Given the description of an element on the screen output the (x, y) to click on. 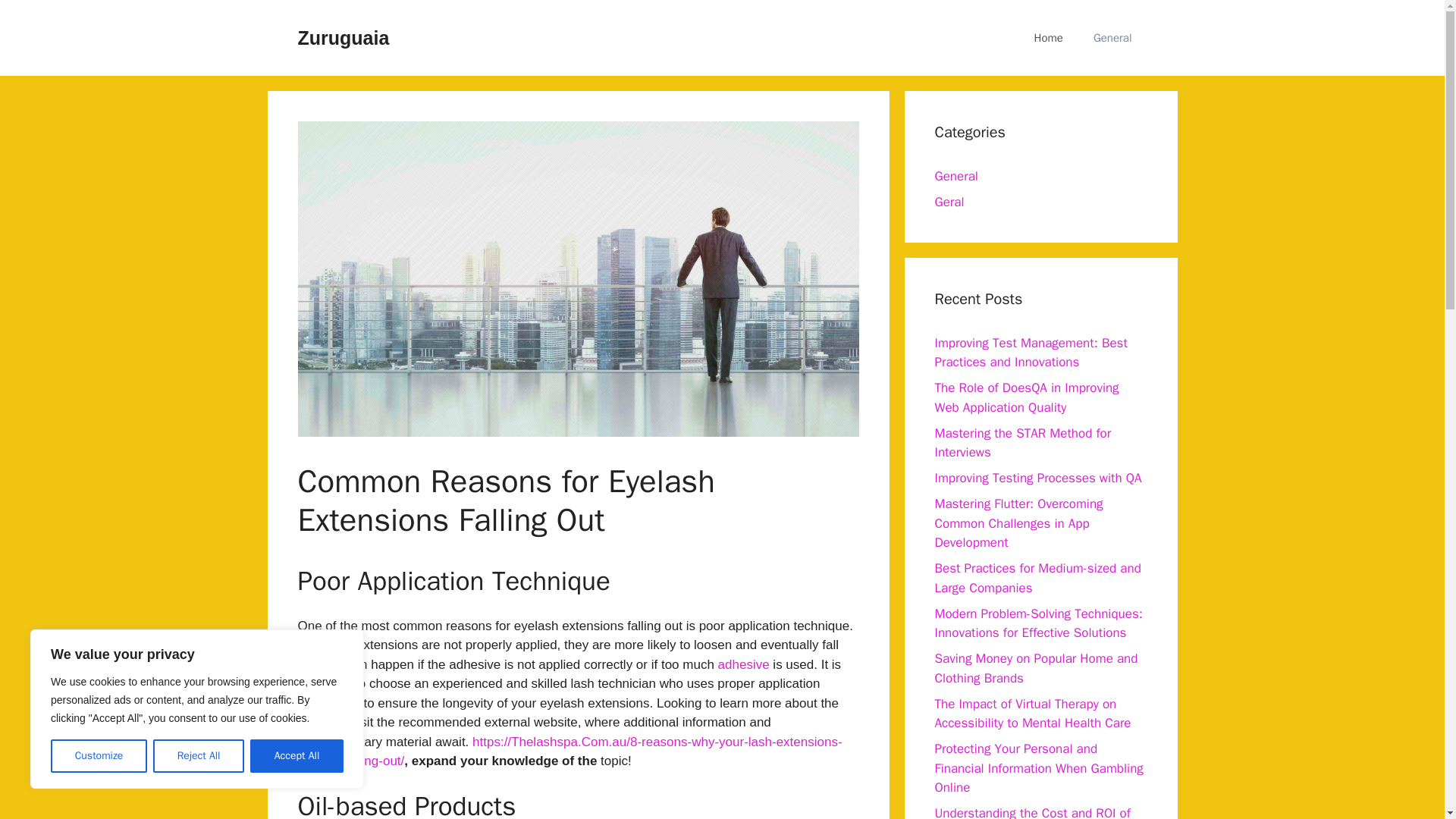
adhesive (743, 664)
Customize (98, 756)
Accept All (296, 756)
General (955, 176)
Geral (948, 201)
Improving Testing Processes with QA (1037, 478)
Mastering the STAR Method for Interviews (1022, 442)
Best Practices for Medium-sized and Large Companies (1037, 578)
Home (1048, 37)
